Given the description of an element on the screen output the (x, y) to click on. 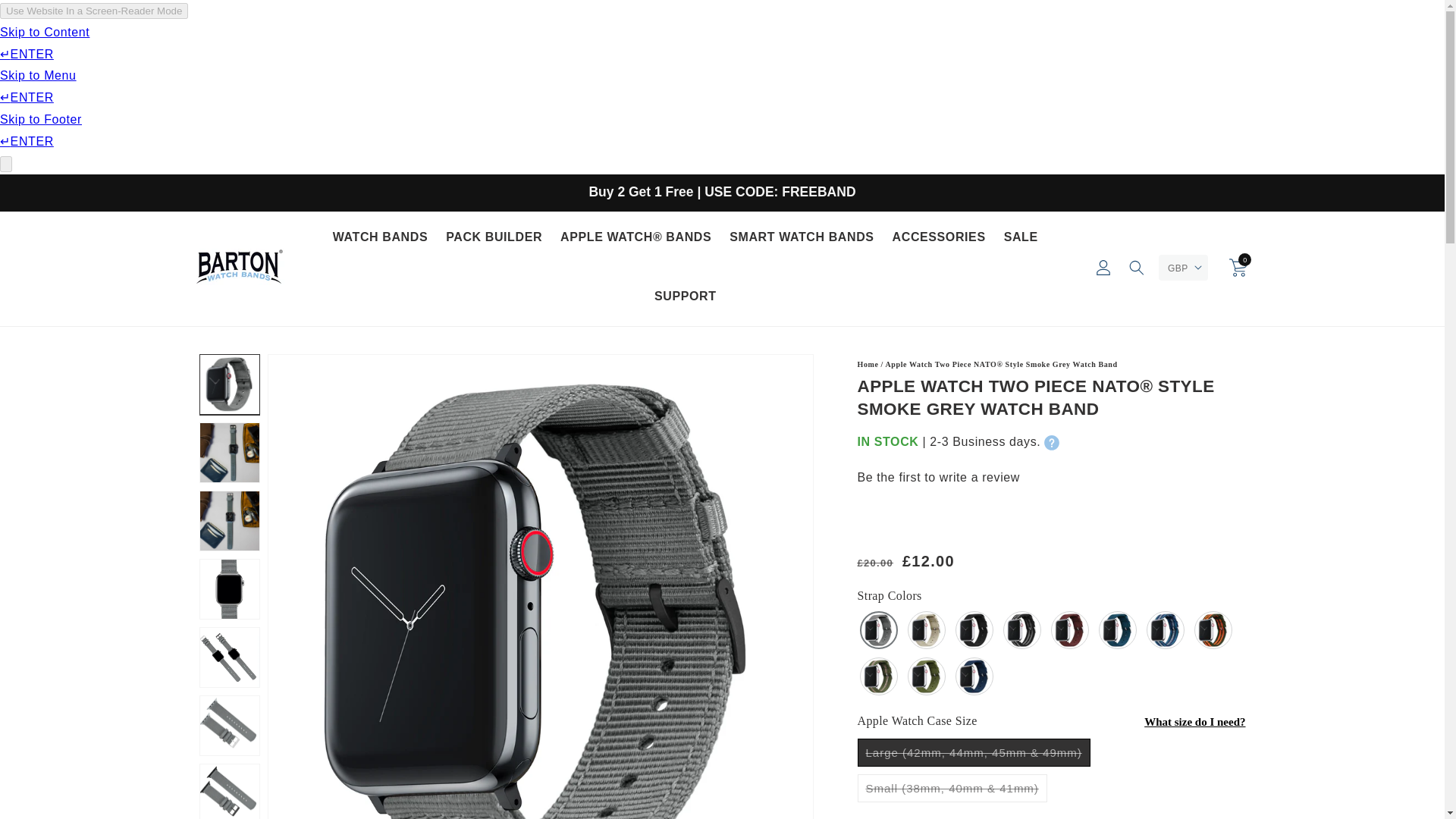
SKIP TO CONTENT (45, 17)
More Information (1051, 442)
Home Page Link (867, 364)
